Given the description of an element on the screen output the (x, y) to click on. 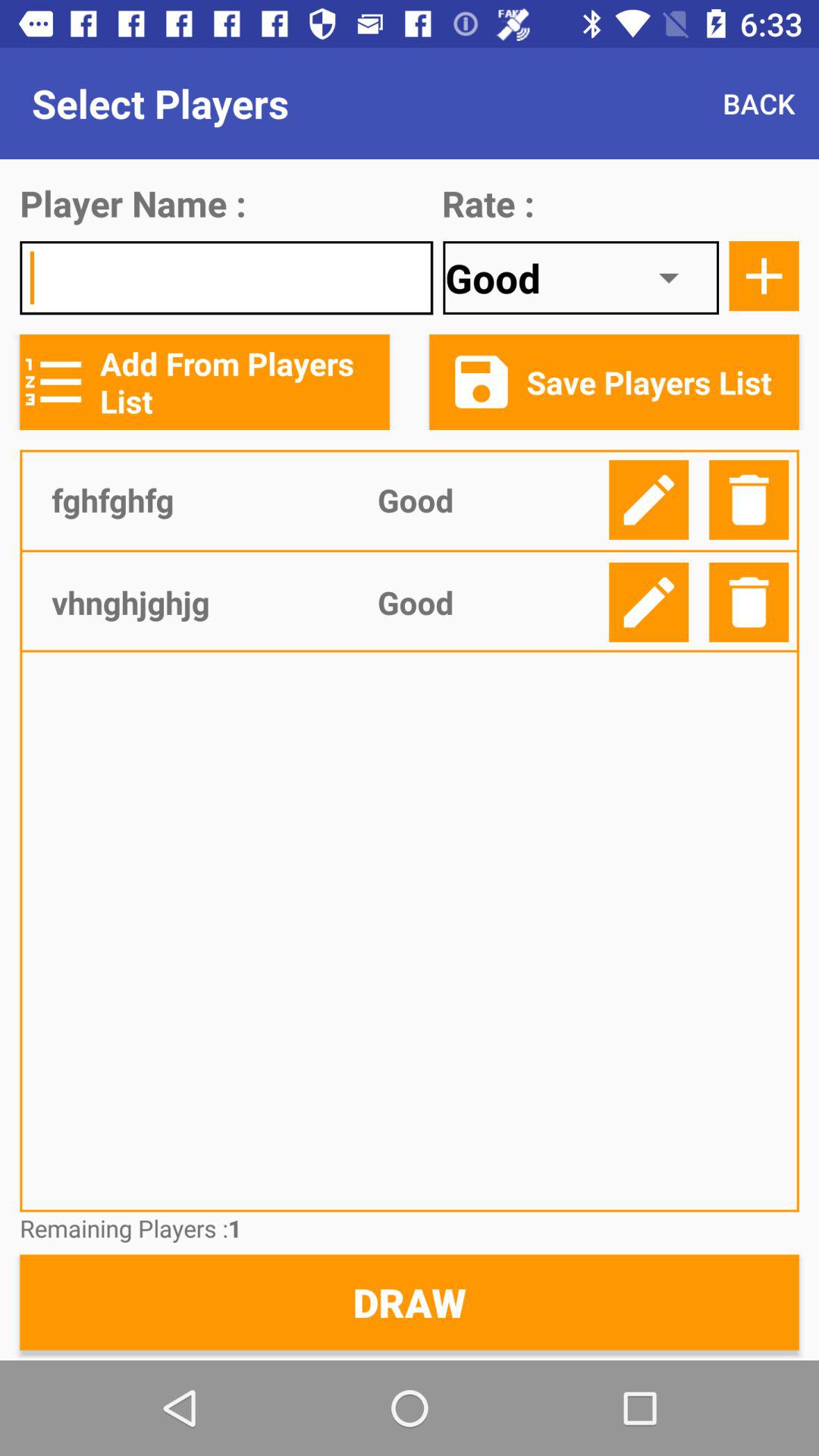
click the edit option (648, 499)
